Given the description of an element on the screen output the (x, y) to click on. 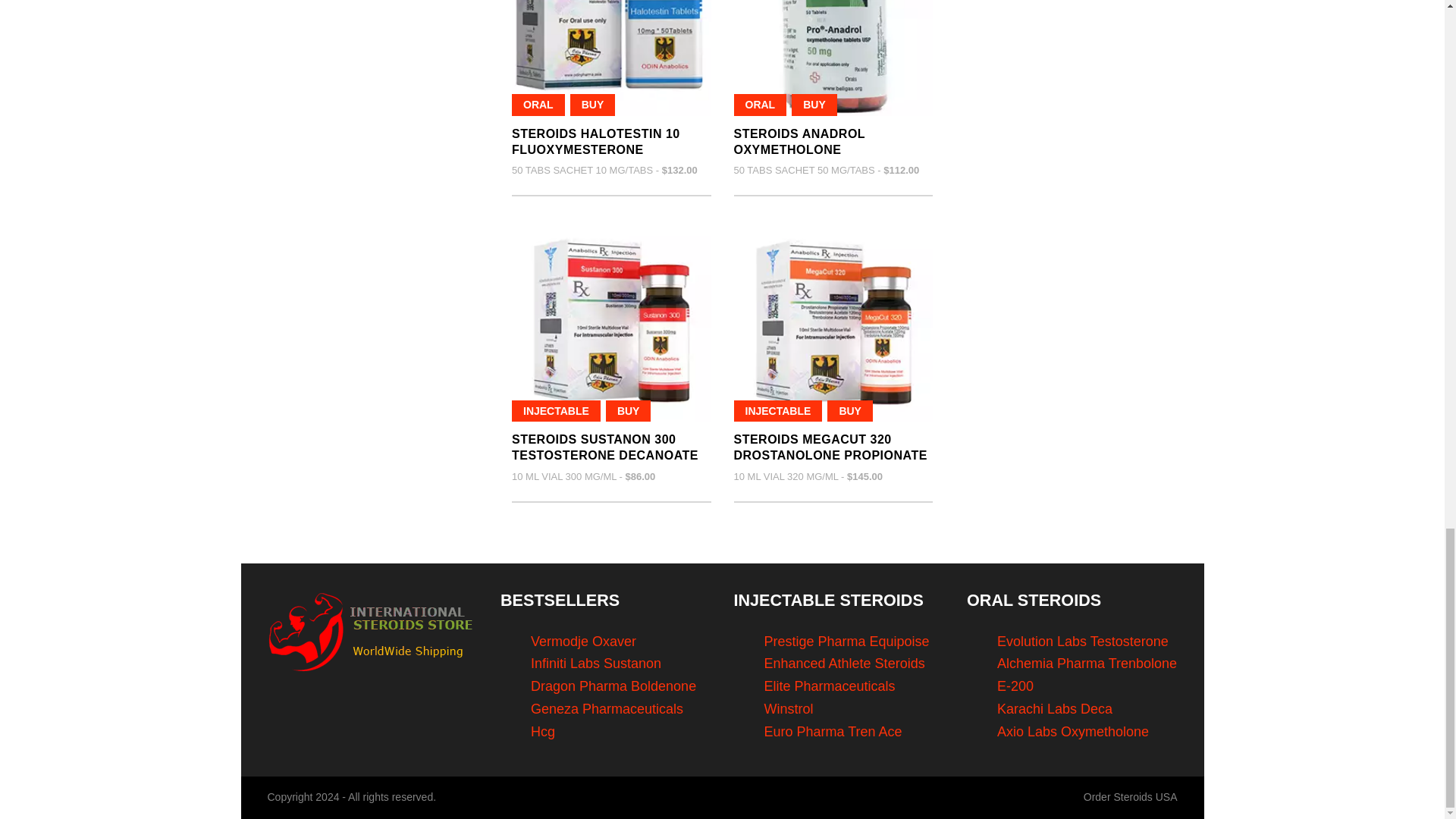
Buy Steroids Halotestin 10 (611, 58)
Buy Steroids Anadrol (799, 141)
Buy Steroids Halotestin 10 (595, 141)
Buy Steroids Anadrol (833, 58)
